Given the description of an element on the screen output the (x, y) to click on. 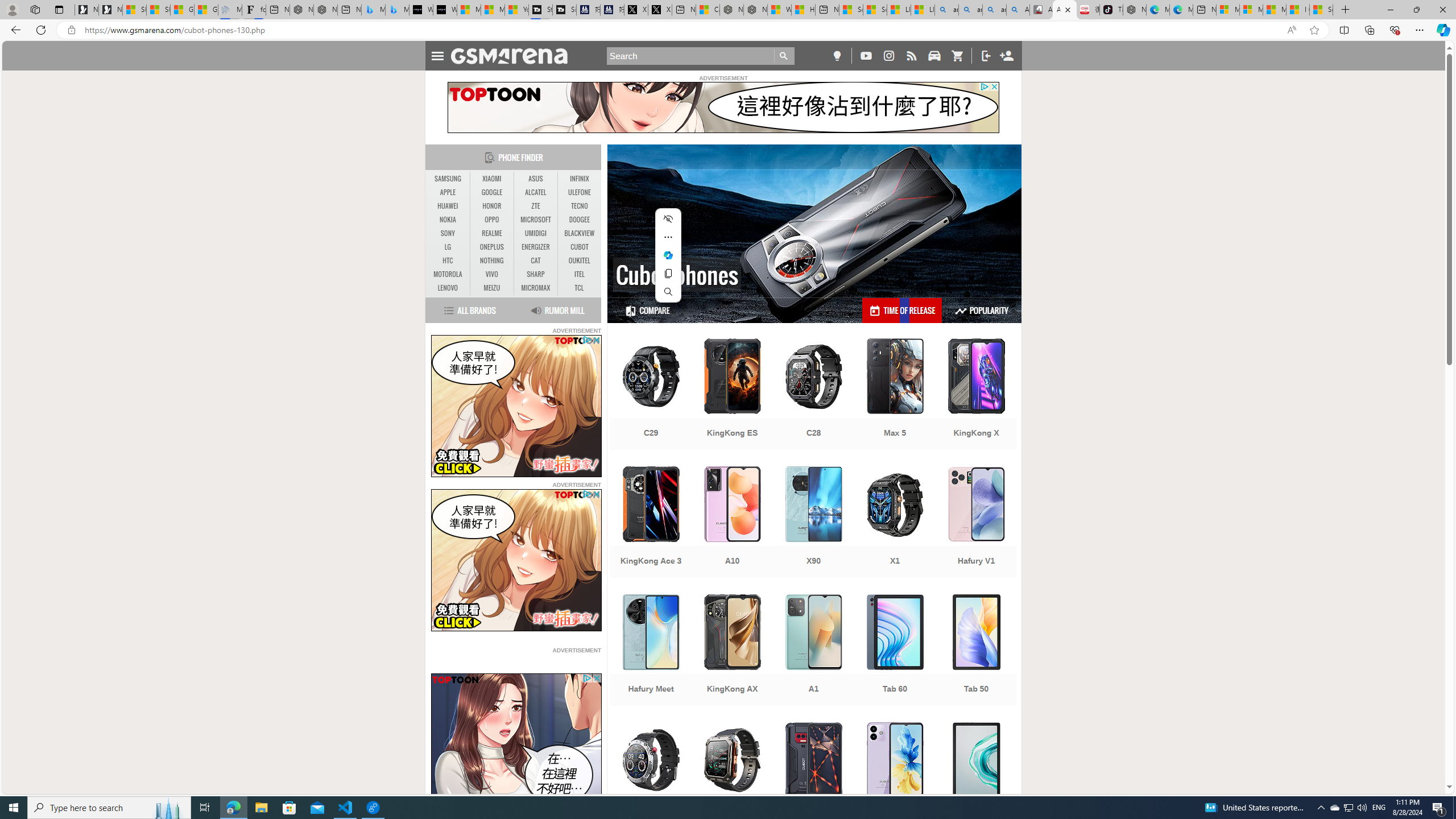
X90 (813, 523)
X (660, 9)
More actions (668, 236)
VIVO (491, 273)
Mini menu on text selection (668, 262)
To get missing image descriptions, open the context menu. (515, 744)
Shanghai, China weather forecast | Microsoft Weather (157, 9)
SHARP (535, 273)
SONY (448, 233)
